Given the description of an element on the screen output the (x, y) to click on. 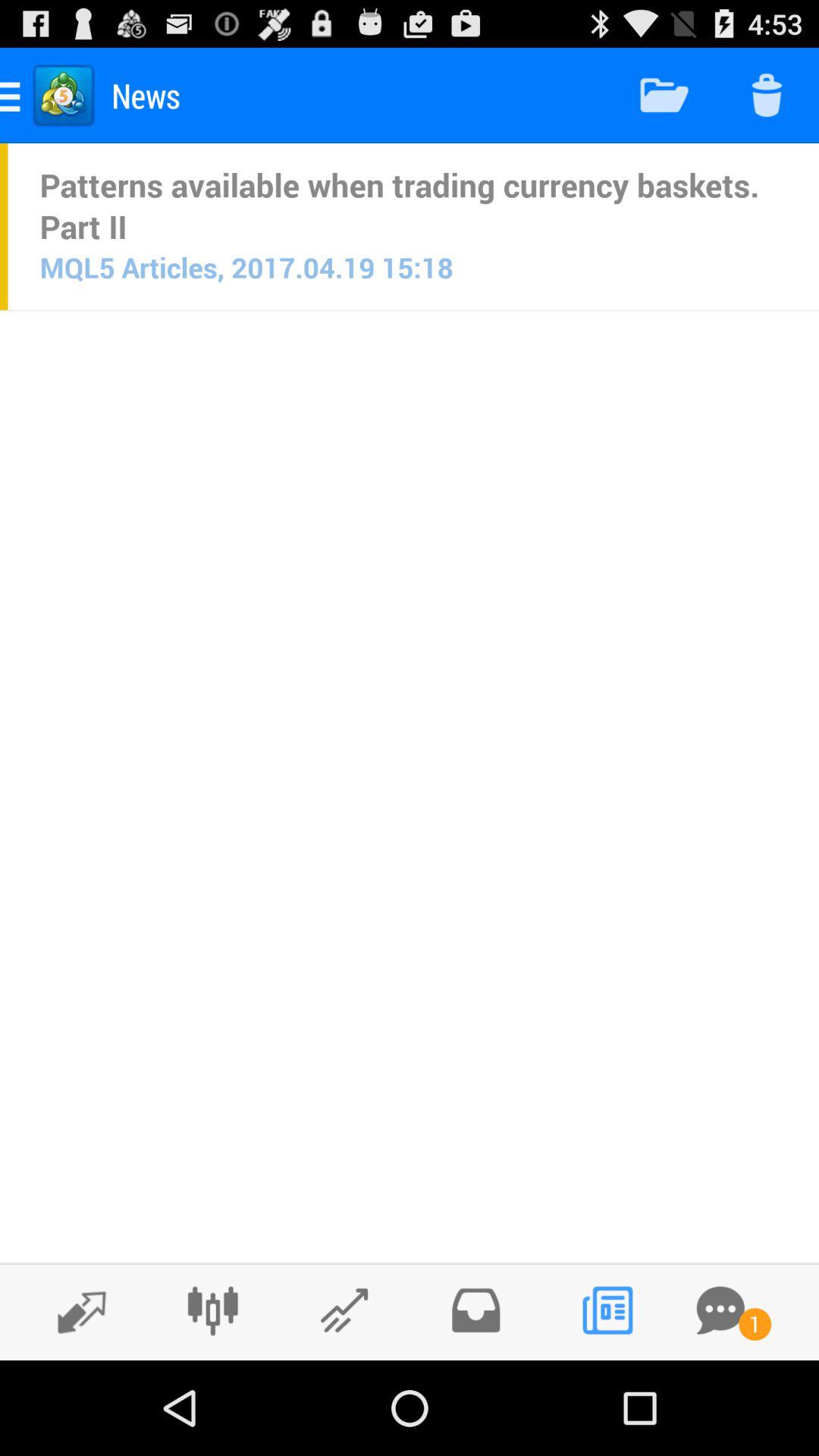
open folder (475, 1310)
